Given the description of an element on the screen output the (x, y) to click on. 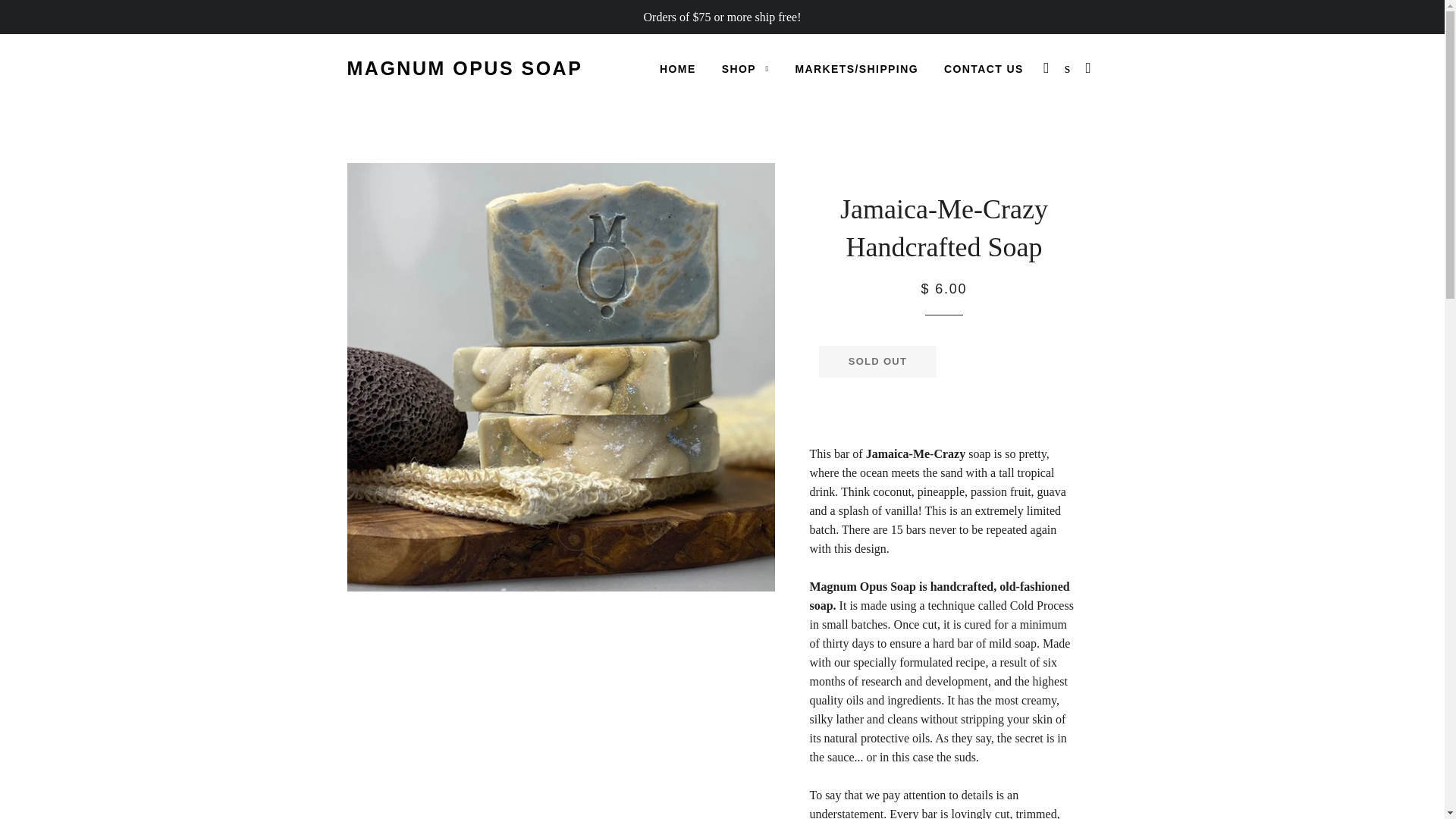
HOME (677, 69)
MAGNUM OPUS SOAP (465, 68)
SHOP (745, 69)
CONTACT US (984, 69)
